Given the description of an element on the screen output the (x, y) to click on. 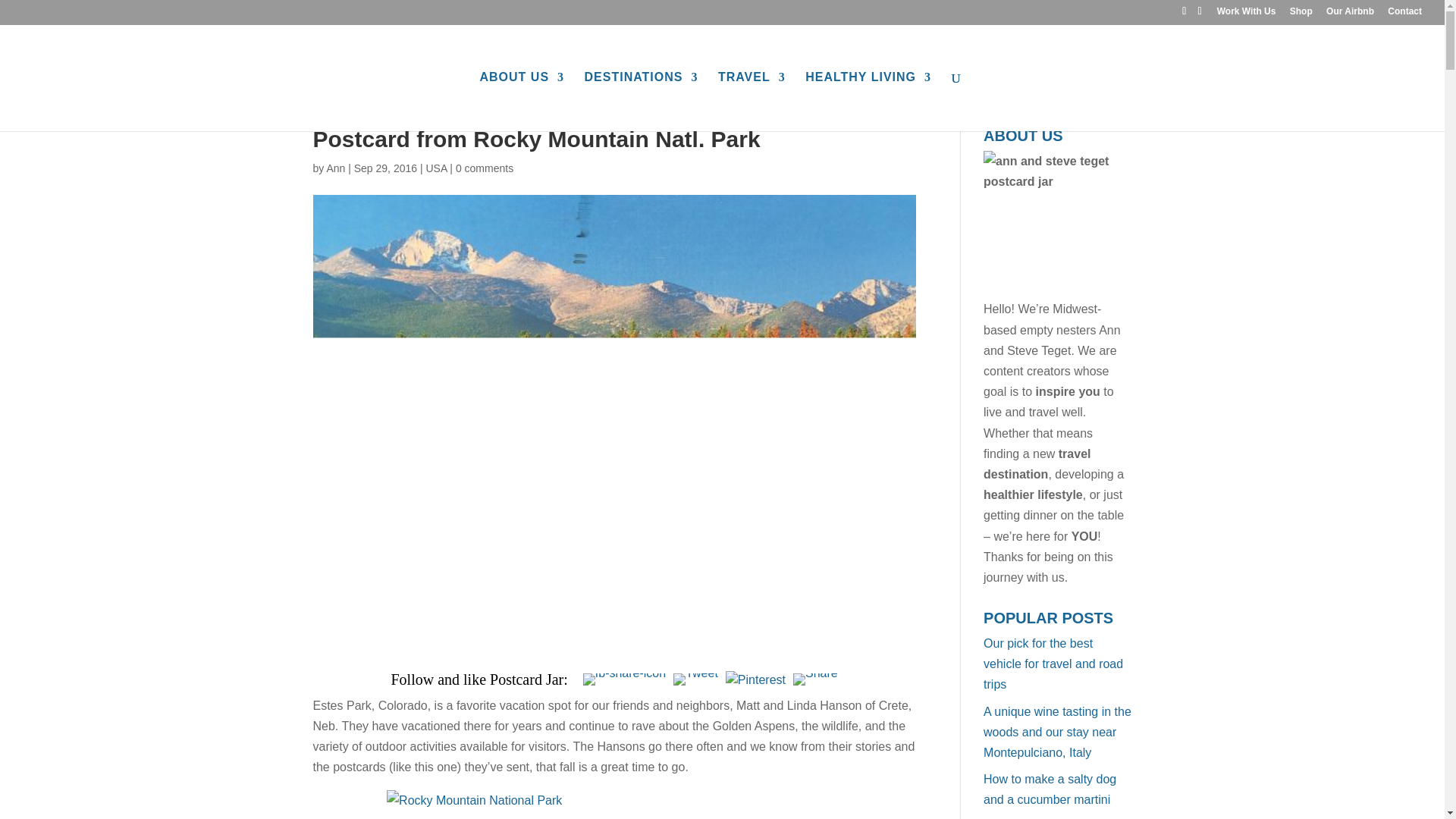
ABOUT US (521, 101)
HEALTHY LIVING (868, 101)
Shop (1301, 14)
Tweet (694, 679)
TRAVEL (751, 101)
Share (815, 679)
Posts by Ann (335, 168)
Ann (335, 168)
DESTINATIONS (641, 101)
Contact (1404, 14)
